Given the description of an element on the screen output the (x, y) to click on. 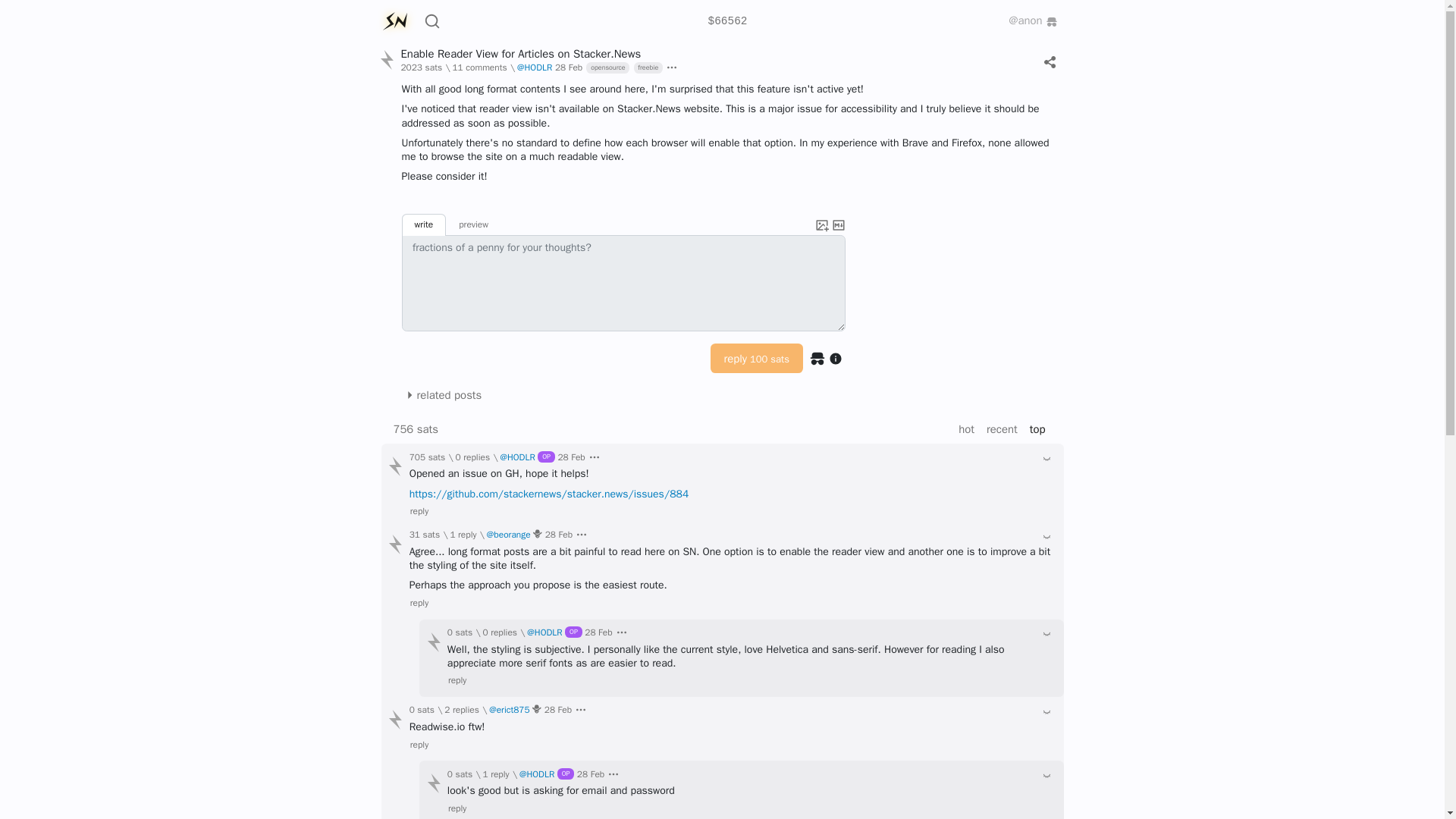
write (423, 224)
opensource (605, 67)
reply 100 sats (756, 358)
Enable Reader View for Articles on Stacker.News (520, 53)
preview (472, 224)
756 sats (478, 67)
11 comments (478, 67)
freebie (645, 67)
0 sats (472, 457)
2024-02-27T16:10:33.080Z (568, 67)
28 Feb (568, 67)
